Given the description of an element on the screen output the (x, y) to click on. 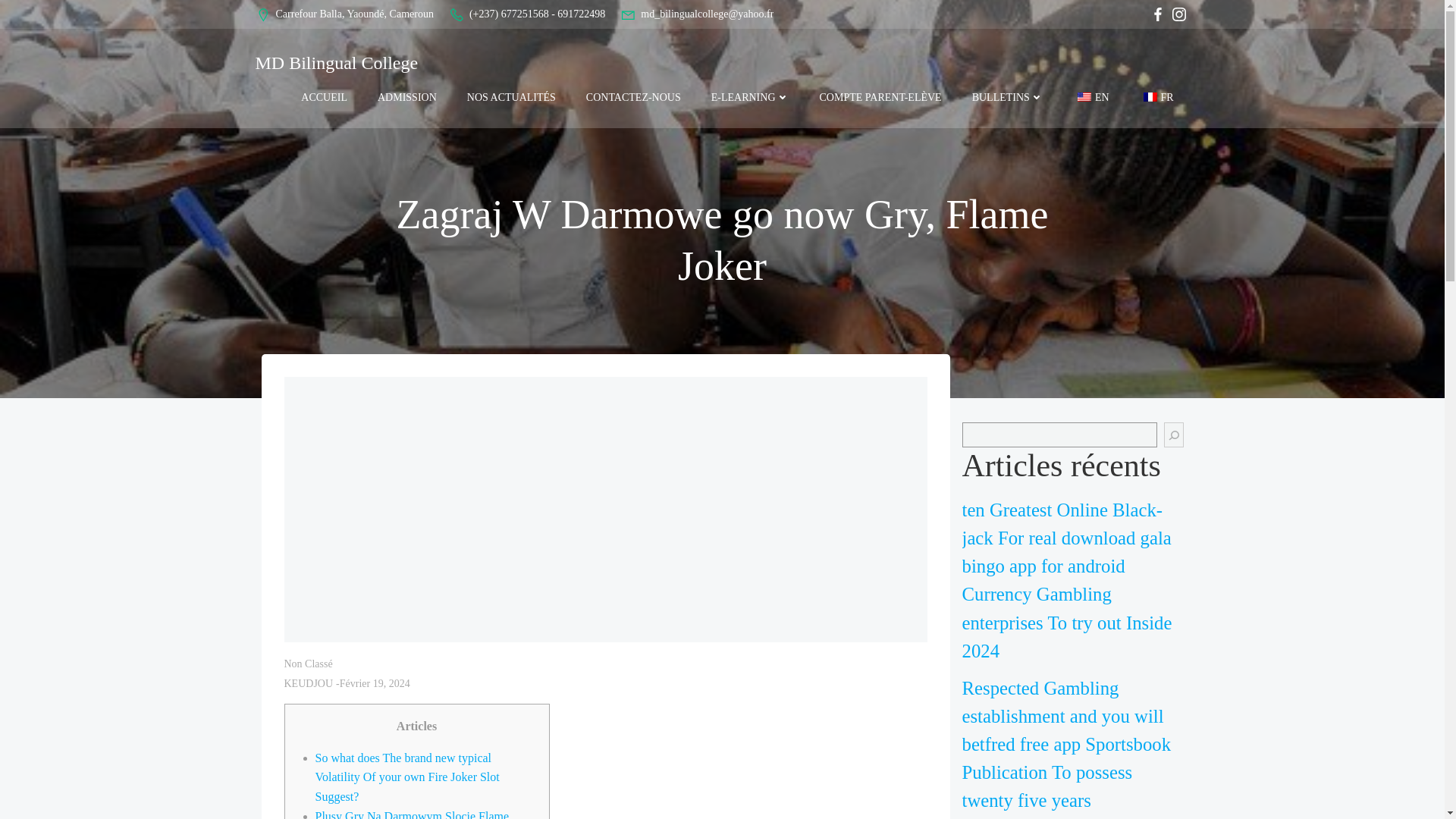
French (1149, 96)
ACCUEIL (324, 97)
BULLETINS (1007, 97)
E-LEARNING (750, 97)
English (1083, 96)
ADMISSION (406, 97)
CONTACTEZ-NOUS (633, 97)
MD Bilingual College (335, 62)
